Given the description of an element on the screen output the (x, y) to click on. 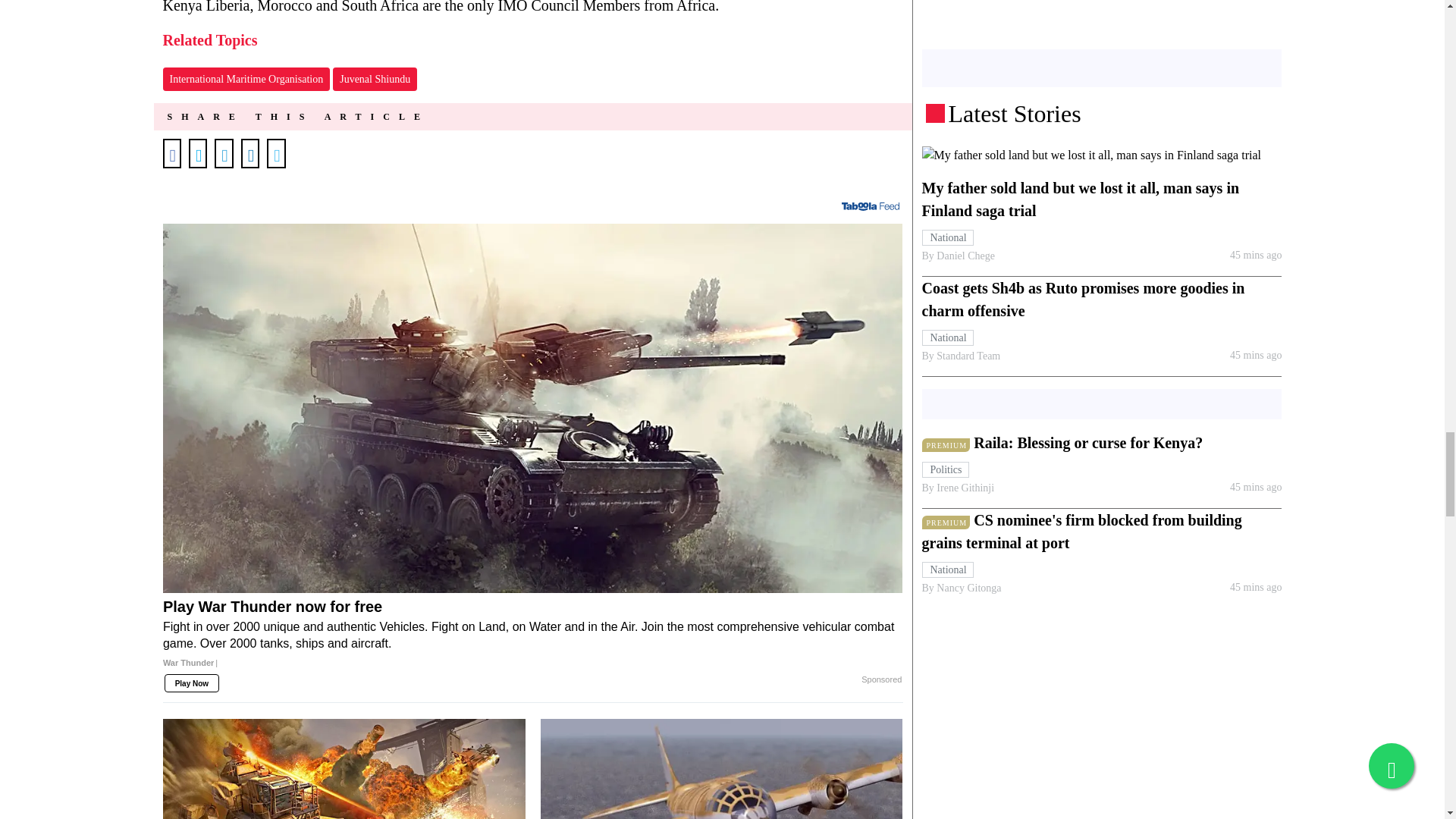
Crossout: New Apocalyptic MMO (344, 769)
Play War Thunder now for free (532, 640)
